Given the description of an element on the screen output the (x, y) to click on. 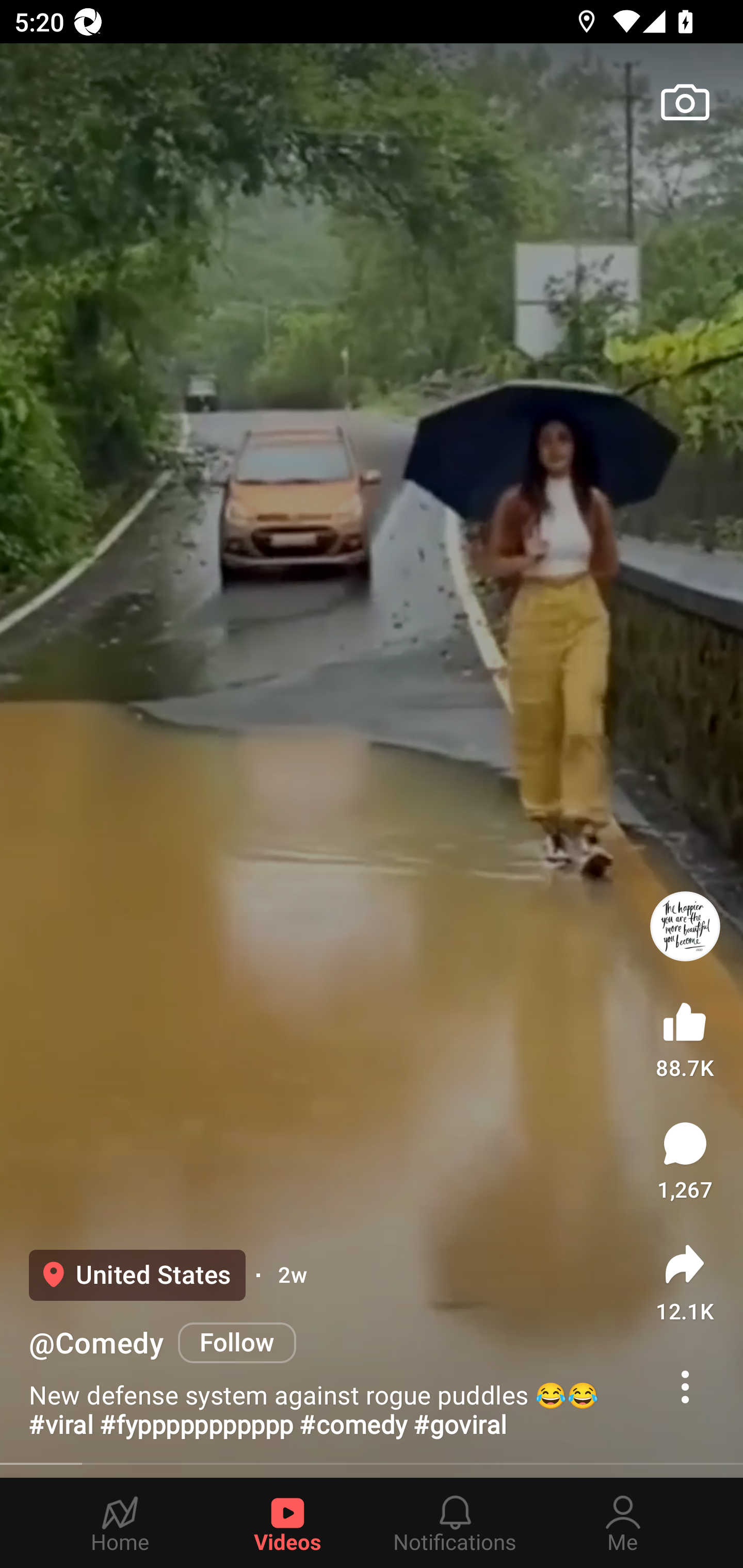
88.7K (684, 1035)
1,267 (685, 1160)
12.1K (685, 1282)
United States (136, 1275)
Follow (237, 1341)
@Comedy (95, 1343)
Home (119, 1522)
Notifications (455, 1522)
Me (622, 1522)
